Given the description of an element on the screen output the (x, y) to click on. 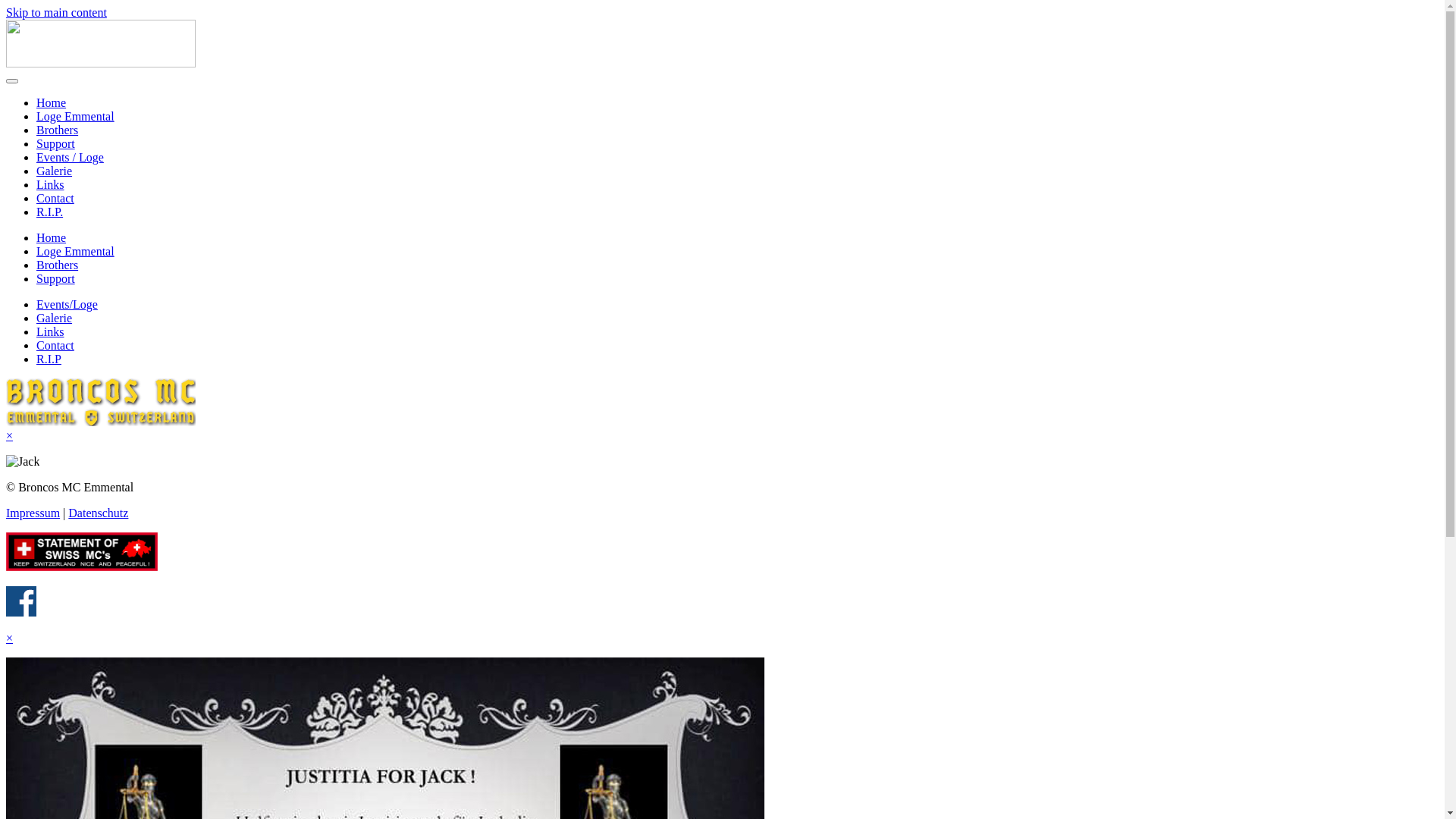
Skip to main content Element type: text (56, 12)
Support Element type: text (55, 278)
Home Element type: text (50, 102)
R.I.P Element type: text (48, 358)
Contact Element type: text (55, 344)
Events / Loge Element type: text (69, 156)
Galerie Element type: text (54, 317)
Support Element type: text (55, 143)
Contact Element type: text (55, 197)
Loge Emmental Element type: text (75, 115)
Home Element type: text (50, 237)
Impressum Element type: text (32, 512)
Brothers Element type: text (57, 129)
Loge Emmental Element type: text (75, 250)
R.I.P. Element type: text (49, 211)
Galerie Element type: text (54, 170)
Links Element type: text (49, 184)
Links Element type: text (49, 331)
Events/Loge Element type: text (66, 304)
Brothers Element type: text (57, 264)
Datenschutz Element type: text (98, 512)
